Given the description of an element on the screen output the (x, y) to click on. 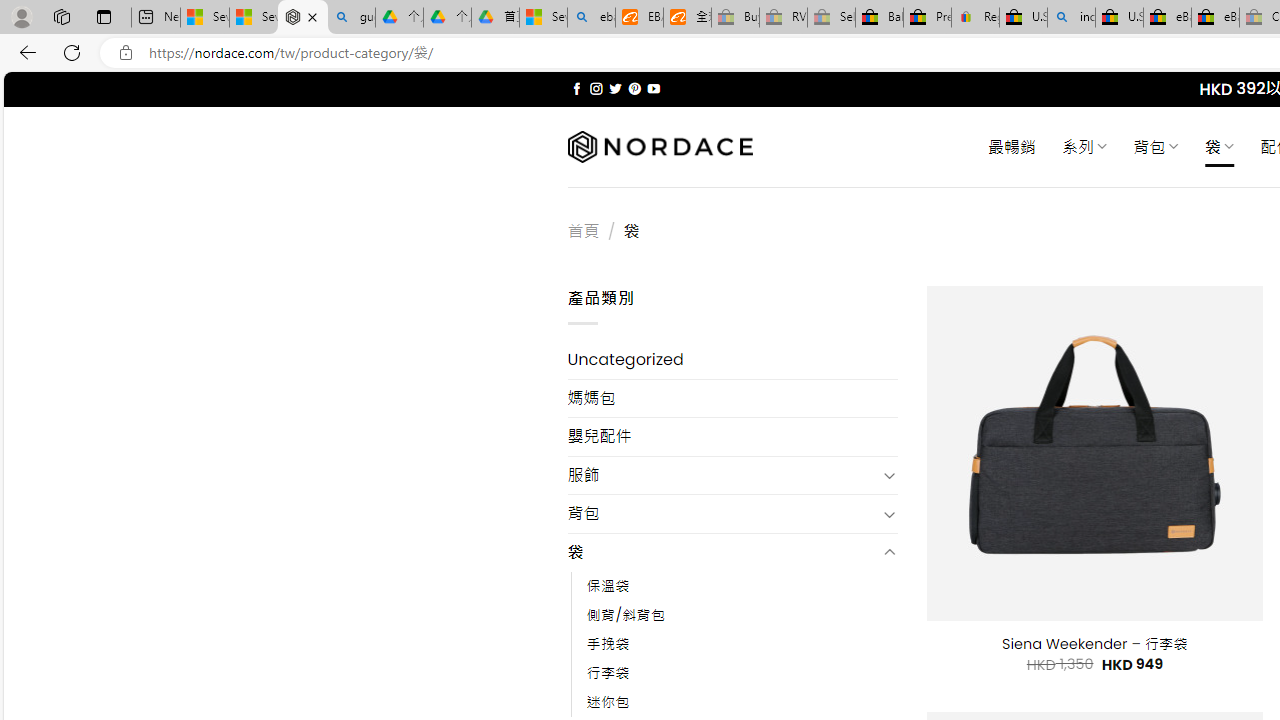
Press Room - eBay Inc. (927, 17)
